Given the description of an element on the screen output the (x, y) to click on. 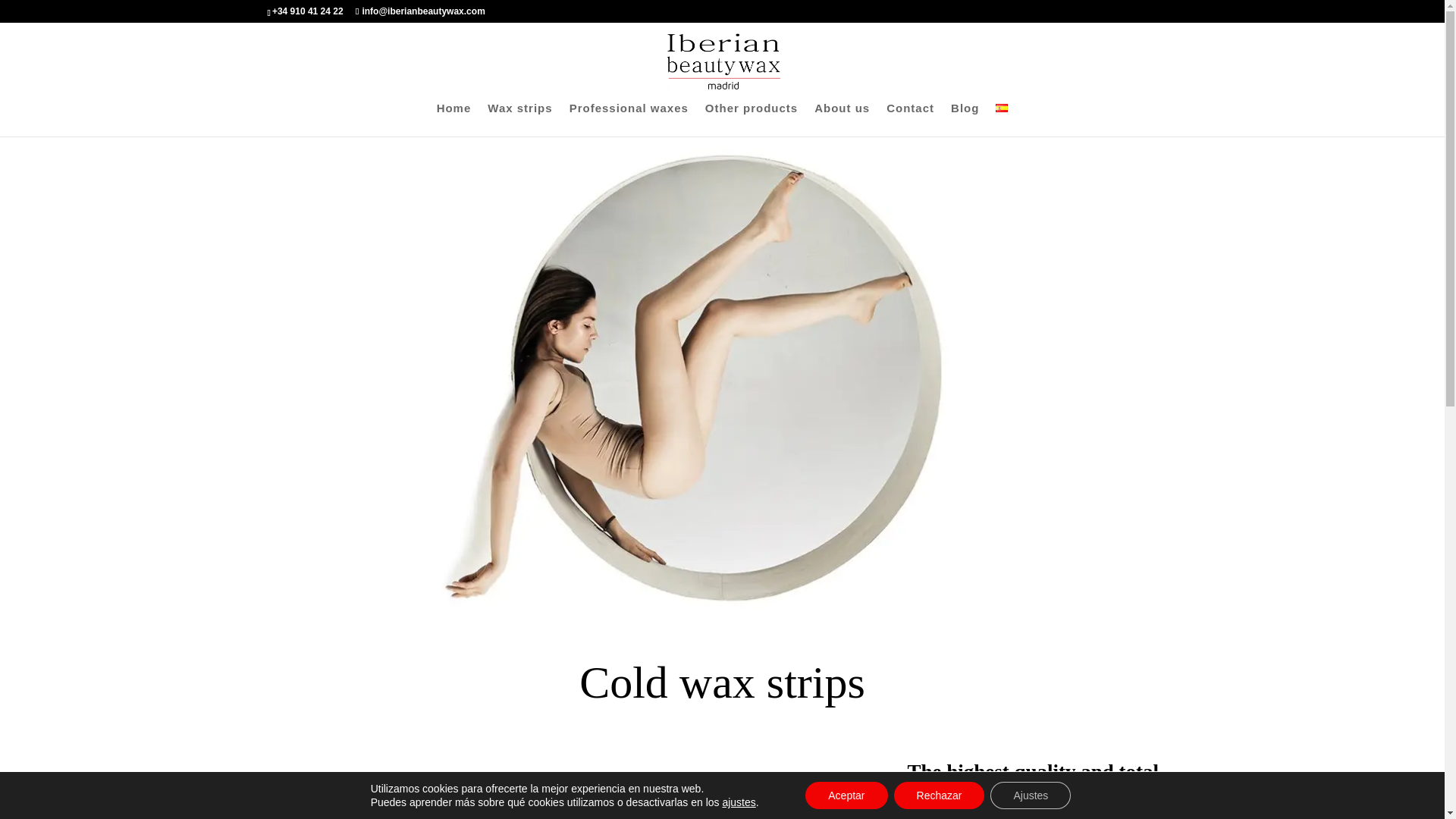
ajustes (738, 802)
Rechazar (939, 795)
Other products (750, 119)
About us (841, 119)
Wax strips (519, 119)
Aceptar (845, 795)
Ajustes (1030, 795)
Home (453, 119)
Contact (910, 119)
Professional waxes (628, 119)
